Given the description of an element on the screen output the (x, y) to click on. 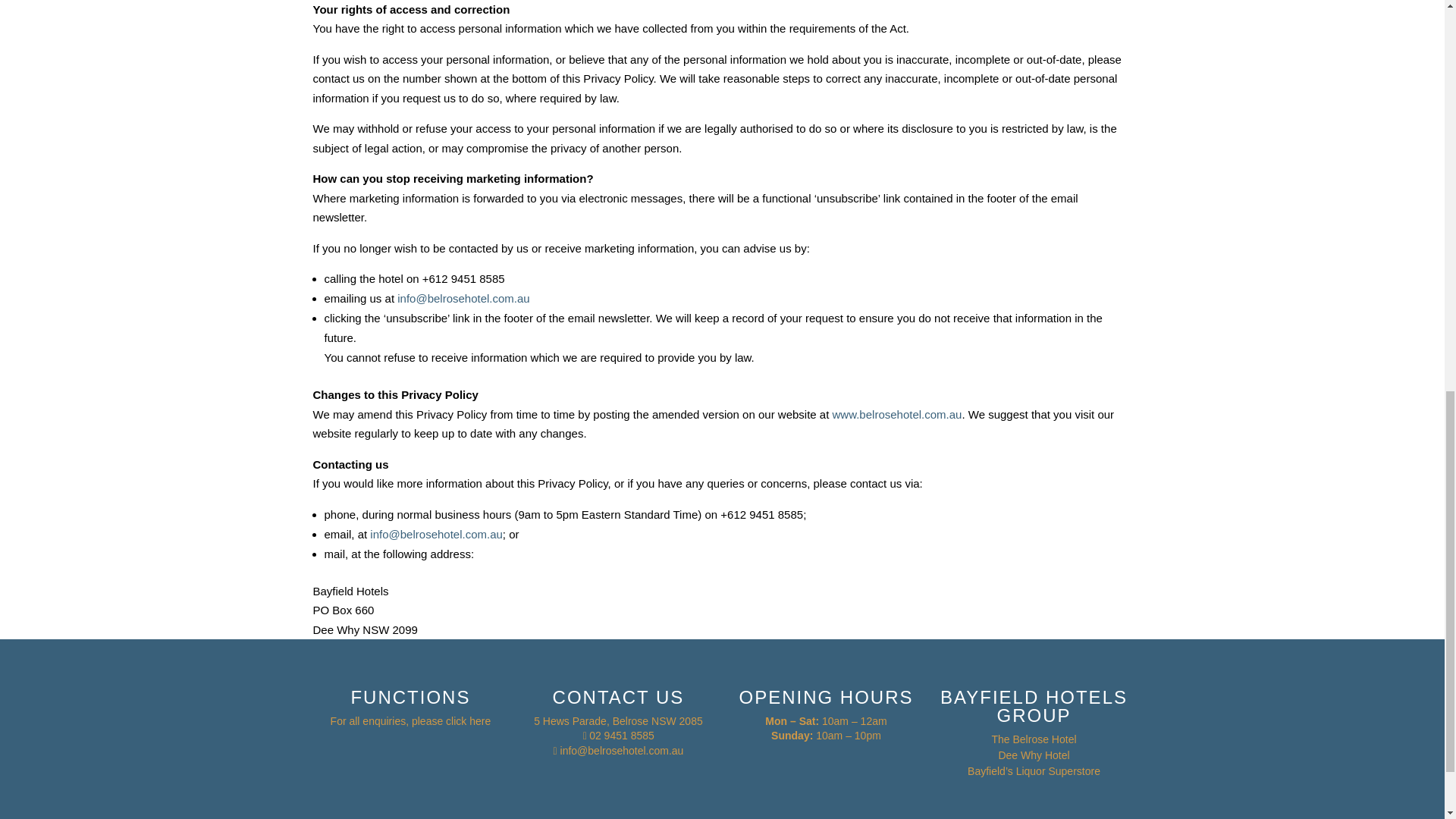
02 9451 8585 (621, 735)
The Belrose Hotel (1033, 739)
Dee Why Hotel (1032, 755)
5 Hews Parade, Belrose NSW 2085 (618, 720)
click here (467, 720)
www.belrosehotel.com.au (897, 413)
